Given the description of an element on the screen output the (x, y) to click on. 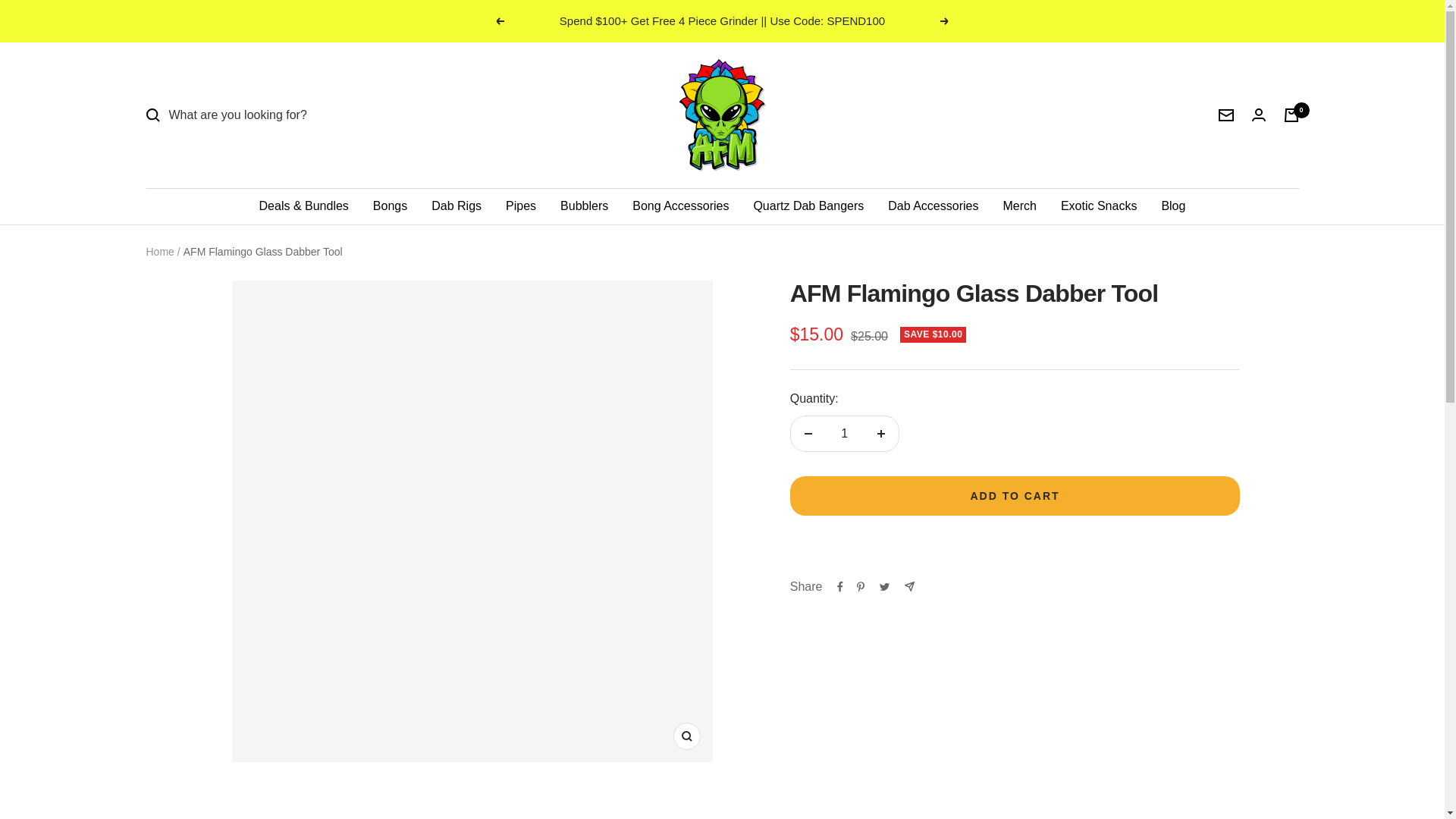
Dab Rigs (455, 206)
Next (944, 21)
Newsletter (1225, 114)
Exotic Snacks (1099, 206)
Bong Accessories (680, 206)
Bongs (389, 206)
Previous (499, 21)
Dab Accessories (933, 206)
Pipes (520, 206)
Merch (1019, 206)
0 (1290, 115)
Blog (1172, 206)
Bubblers (584, 206)
Quartz Dab Bangers (807, 206)
1 (844, 433)
